Given the description of an element on the screen output the (x, y) to click on. 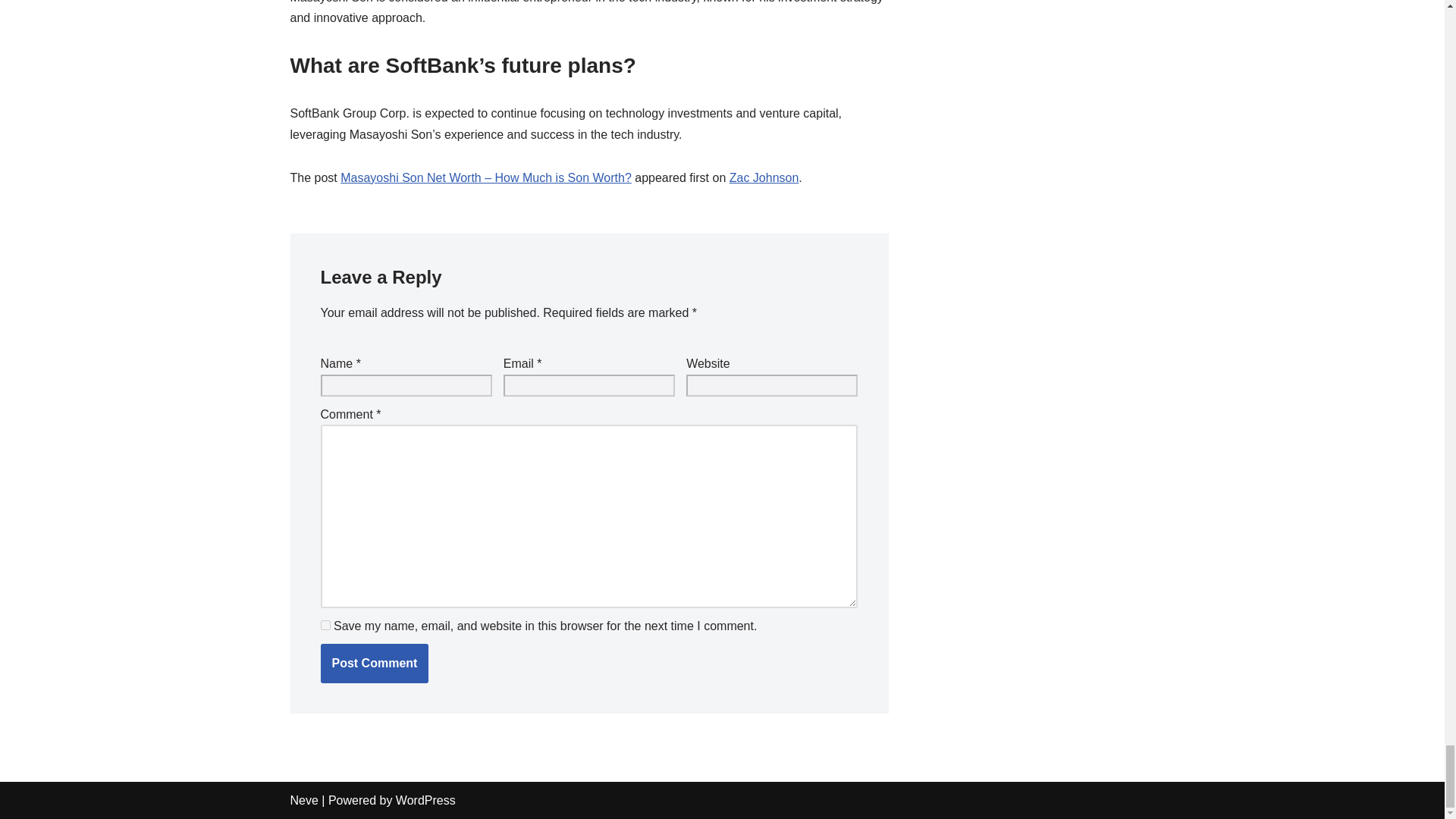
Zac Johnson (764, 177)
WordPress (425, 799)
Post Comment (374, 663)
yes (325, 624)
Post Comment (374, 663)
Neve (303, 799)
